Given the description of an element on the screen output the (x, y) to click on. 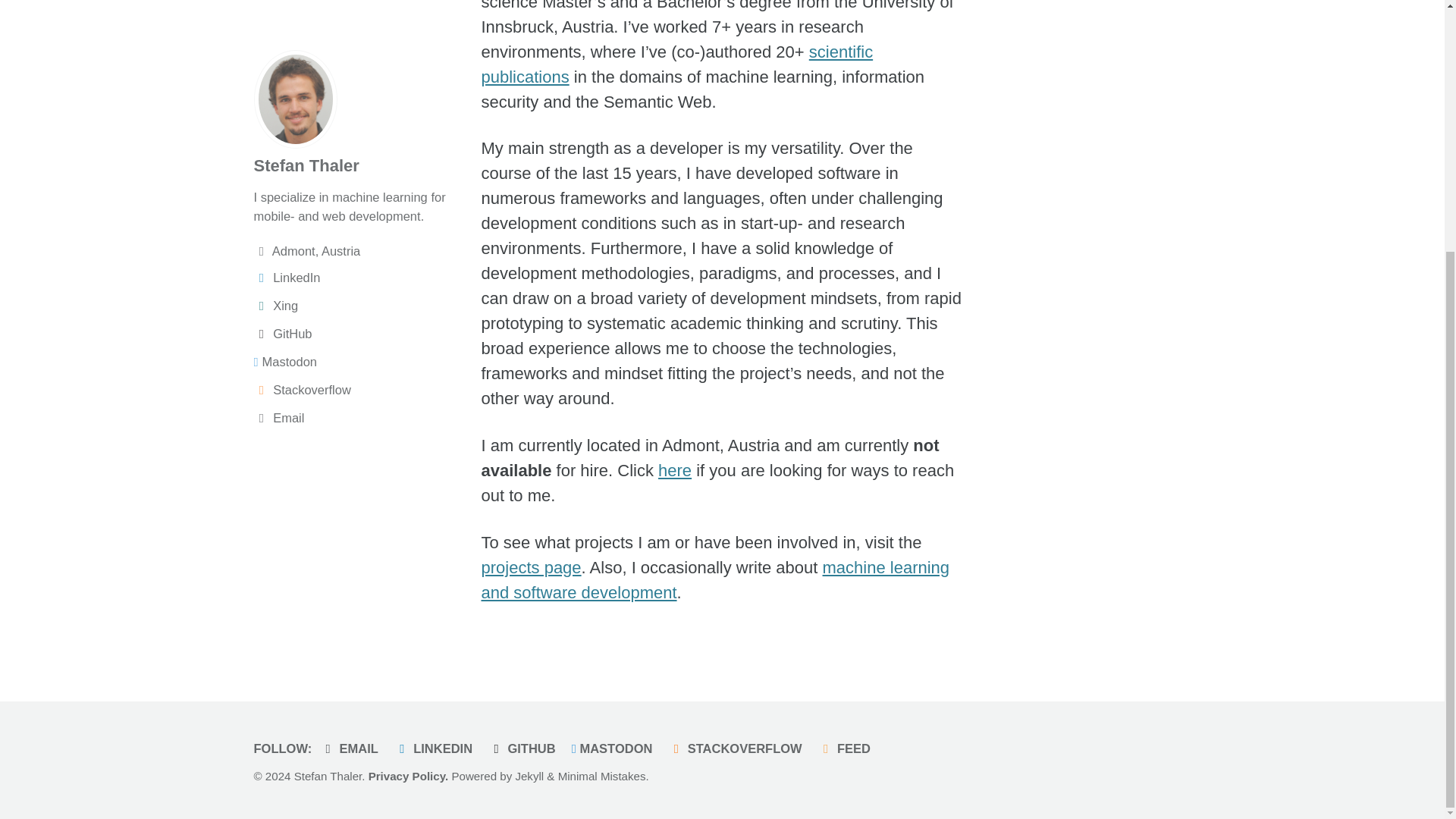
GitHub (358, 13)
machine learning and software development (714, 579)
Mastodon (358, 41)
GITHUB (524, 748)
Stackoverflow (358, 69)
MASTODON (616, 748)
LINKEDIN (437, 748)
Minimal Mistakes (601, 775)
FEED (847, 748)
projects page (530, 567)
Privacy Policy. (408, 775)
Email (358, 97)
EMAIL (352, 748)
here (674, 470)
STACKOVERFLOW (738, 748)
